Given the description of an element on the screen output the (x, y) to click on. 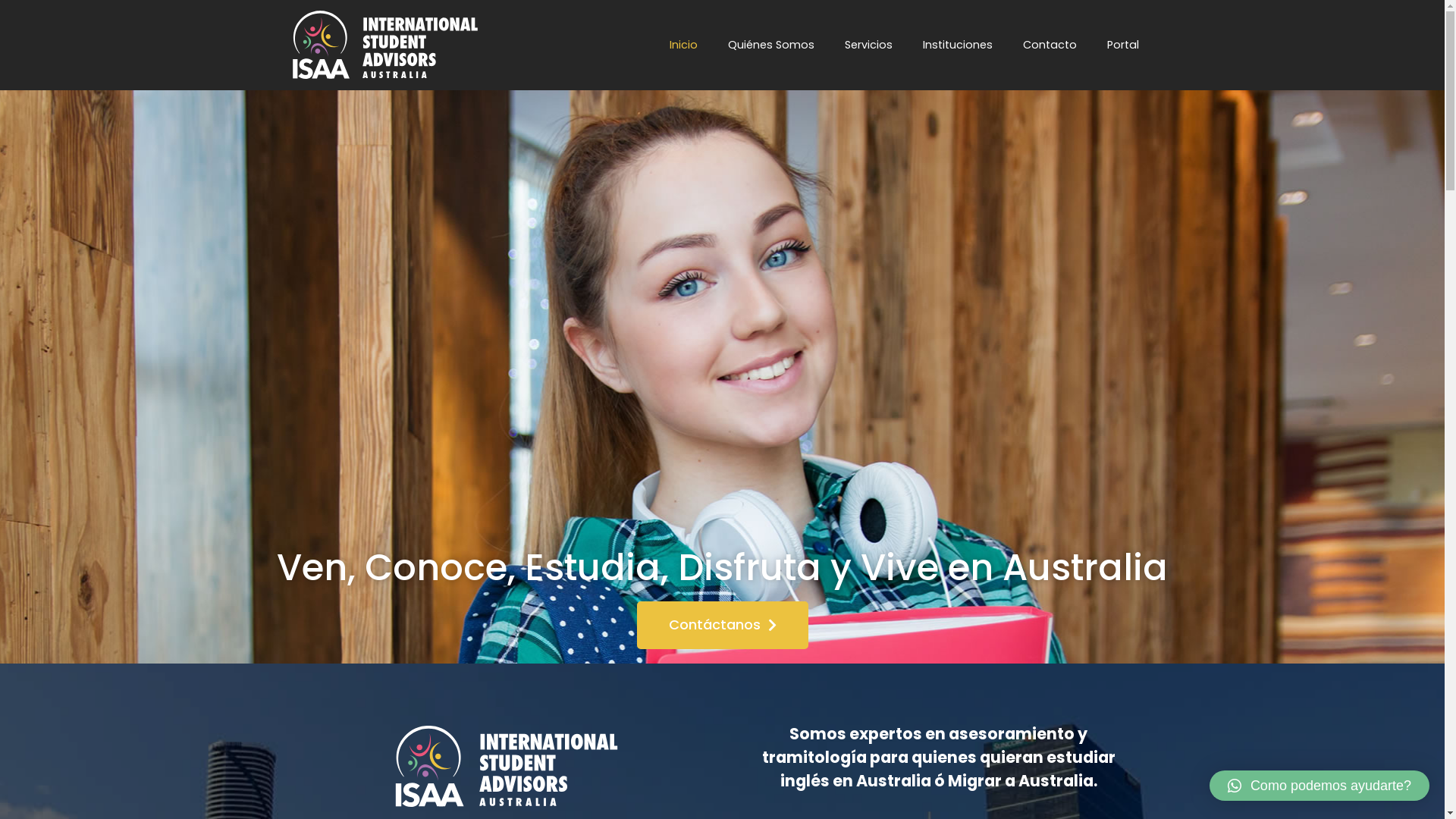
Contacto Element type: text (1049, 44)
Como podemos ayudarte? Element type: text (1319, 785)
Instituciones Element type: text (957, 44)
Servicios Element type: text (868, 44)
Portal Element type: text (1123, 44)
Inicio Element type: text (683, 44)
